Given the description of an element on the screen output the (x, y) to click on. 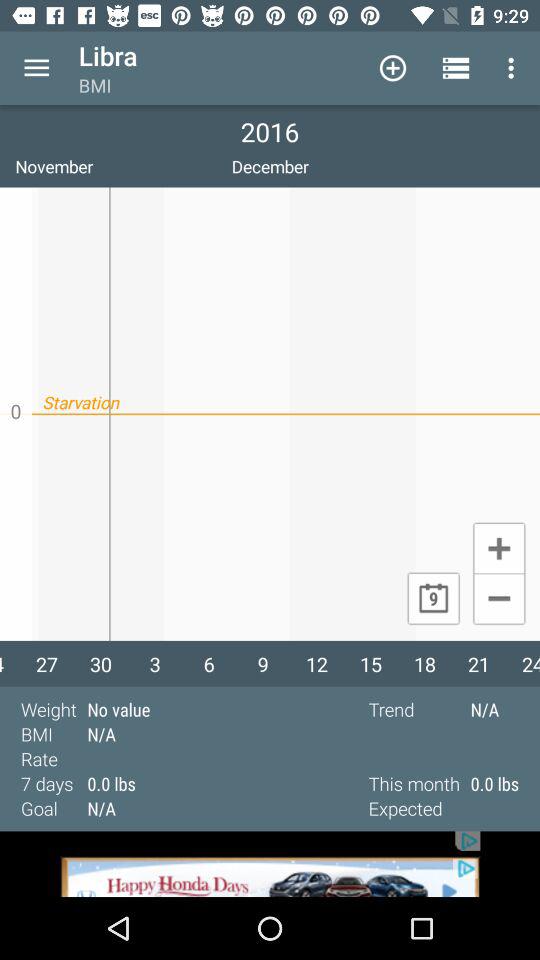
link button (270, 864)
